Given the description of an element on the screen output the (x, y) to click on. 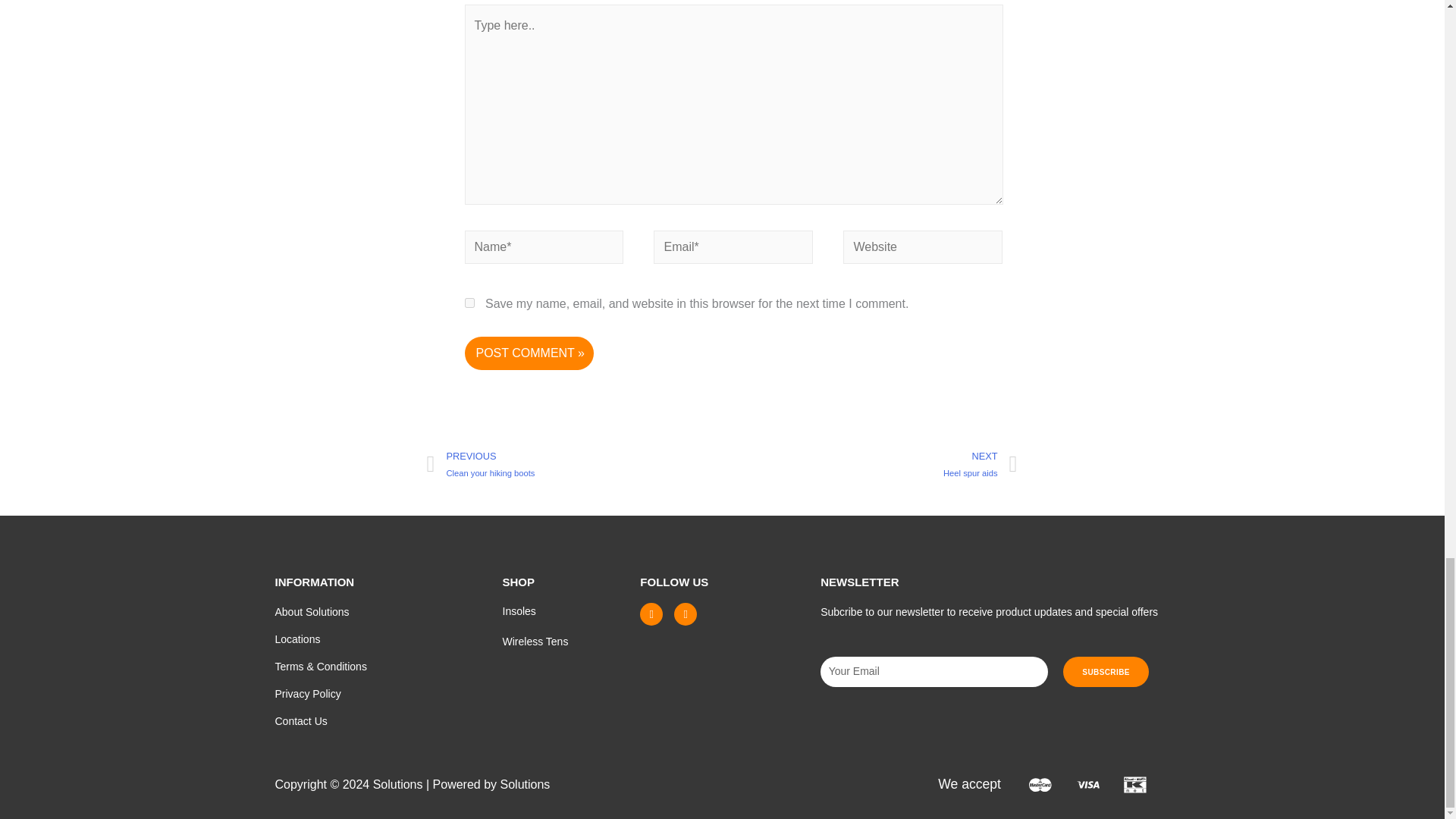
yes (469, 302)
